Given the description of an element on the screen output the (x, y) to click on. 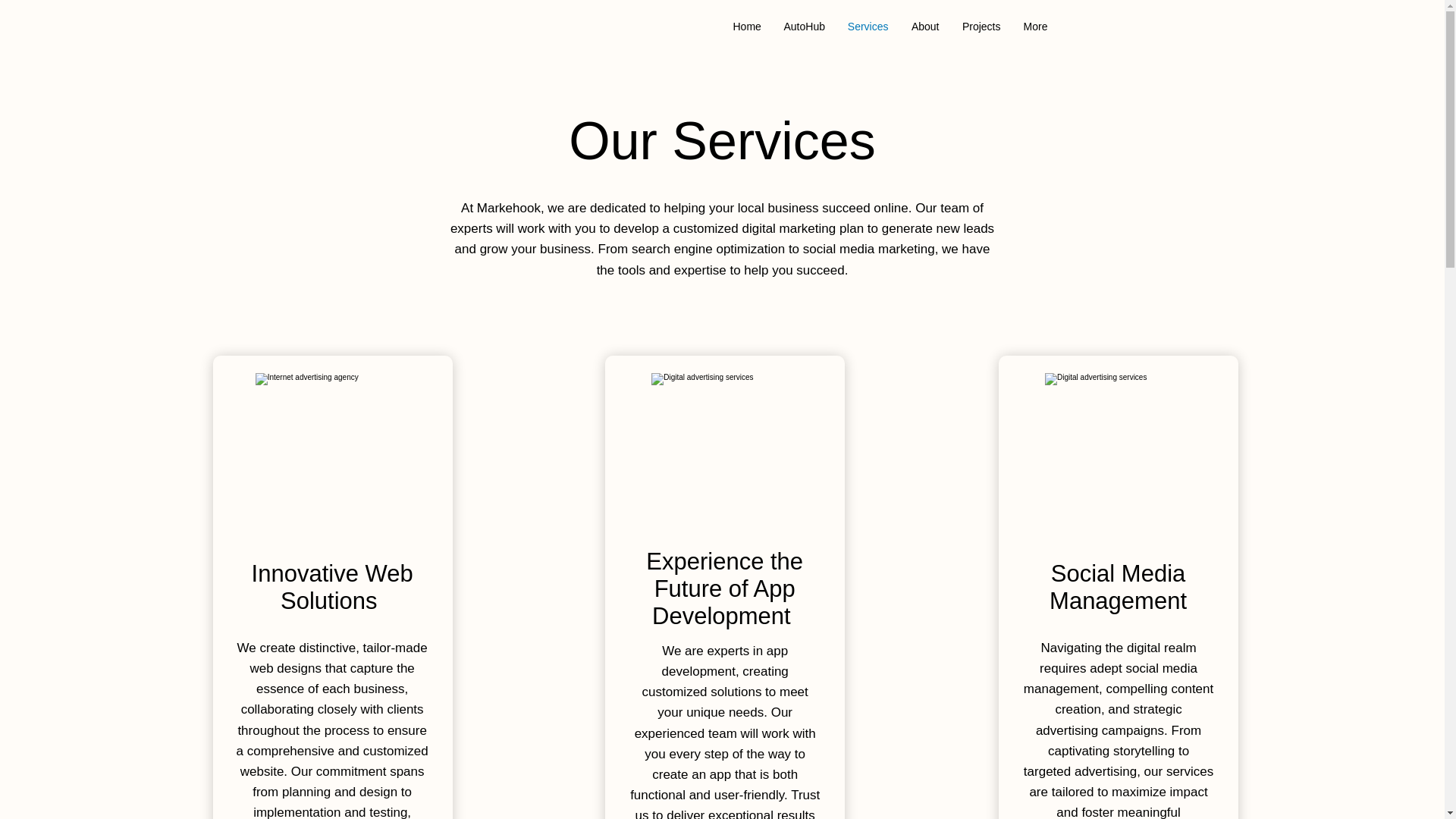
About (924, 26)
Services (867, 26)
AutoHub (803, 26)
Projects (980, 26)
Home (747, 26)
